Given the description of an element on the screen output the (x, y) to click on. 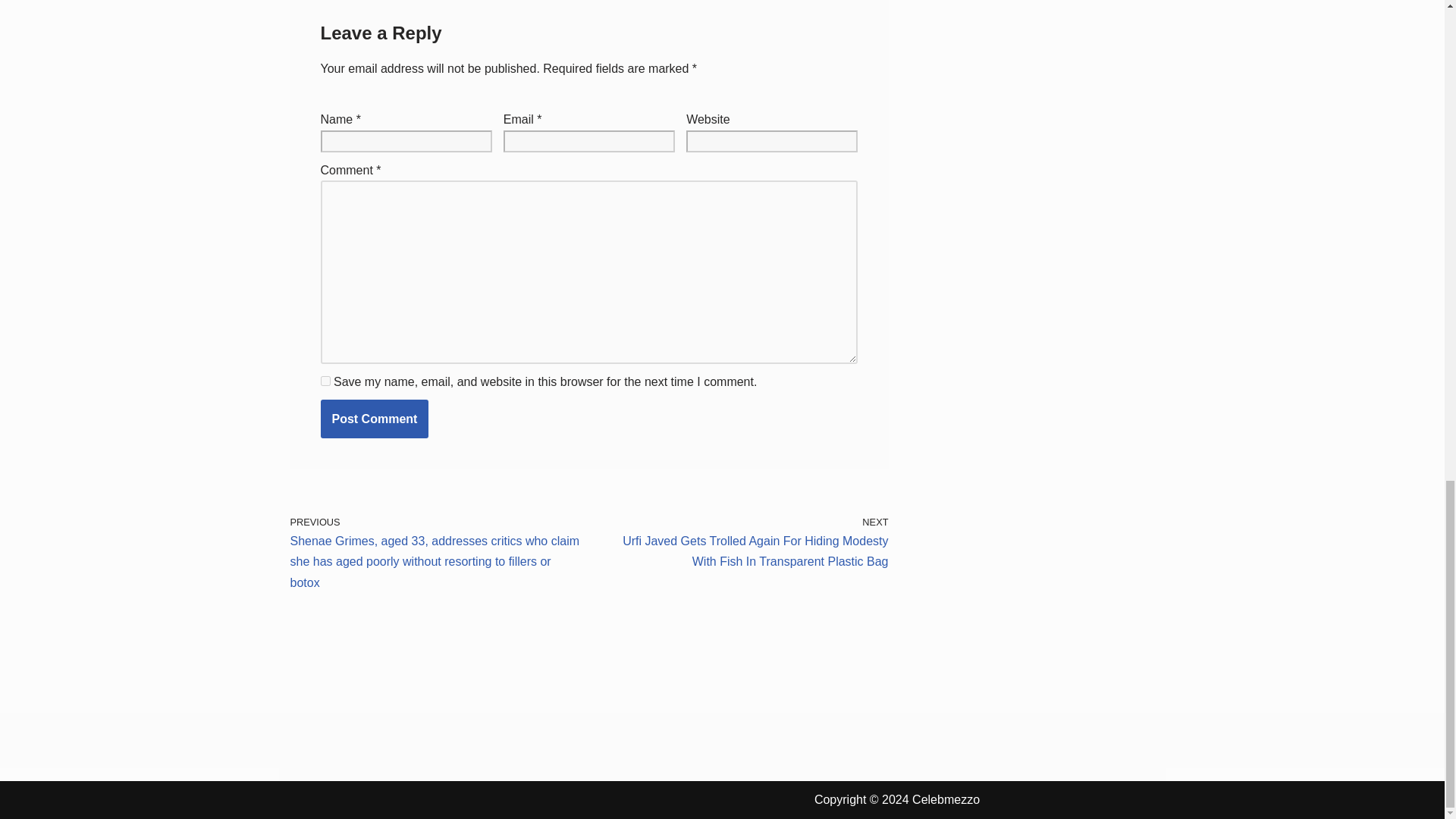
yes (325, 380)
Post Comment (374, 418)
Post Comment (374, 418)
